Given the description of an element on the screen output the (x, y) to click on. 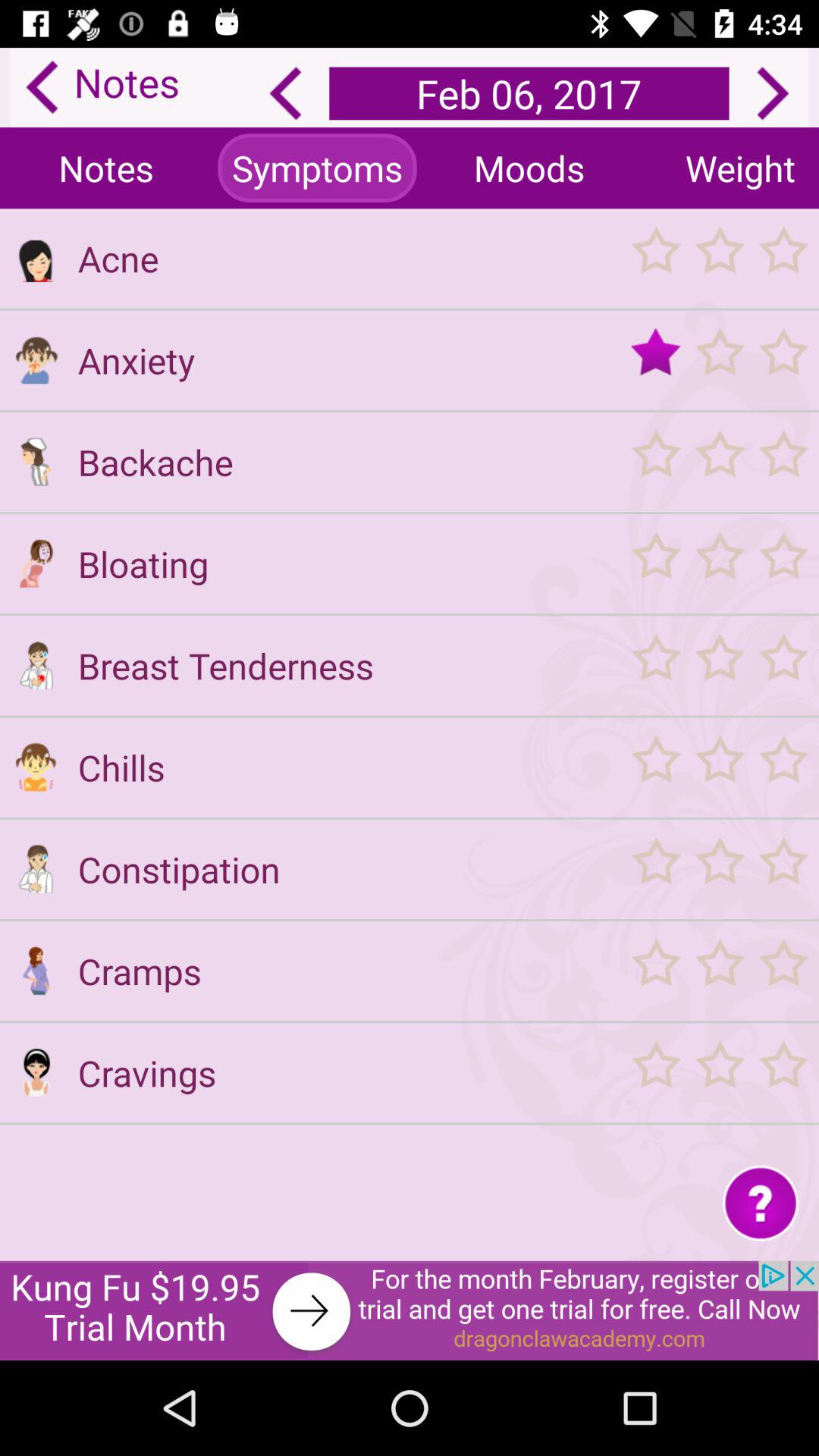
select breast tenderness option (35, 665)
